Given the description of an element on the screen output the (x, y) to click on. 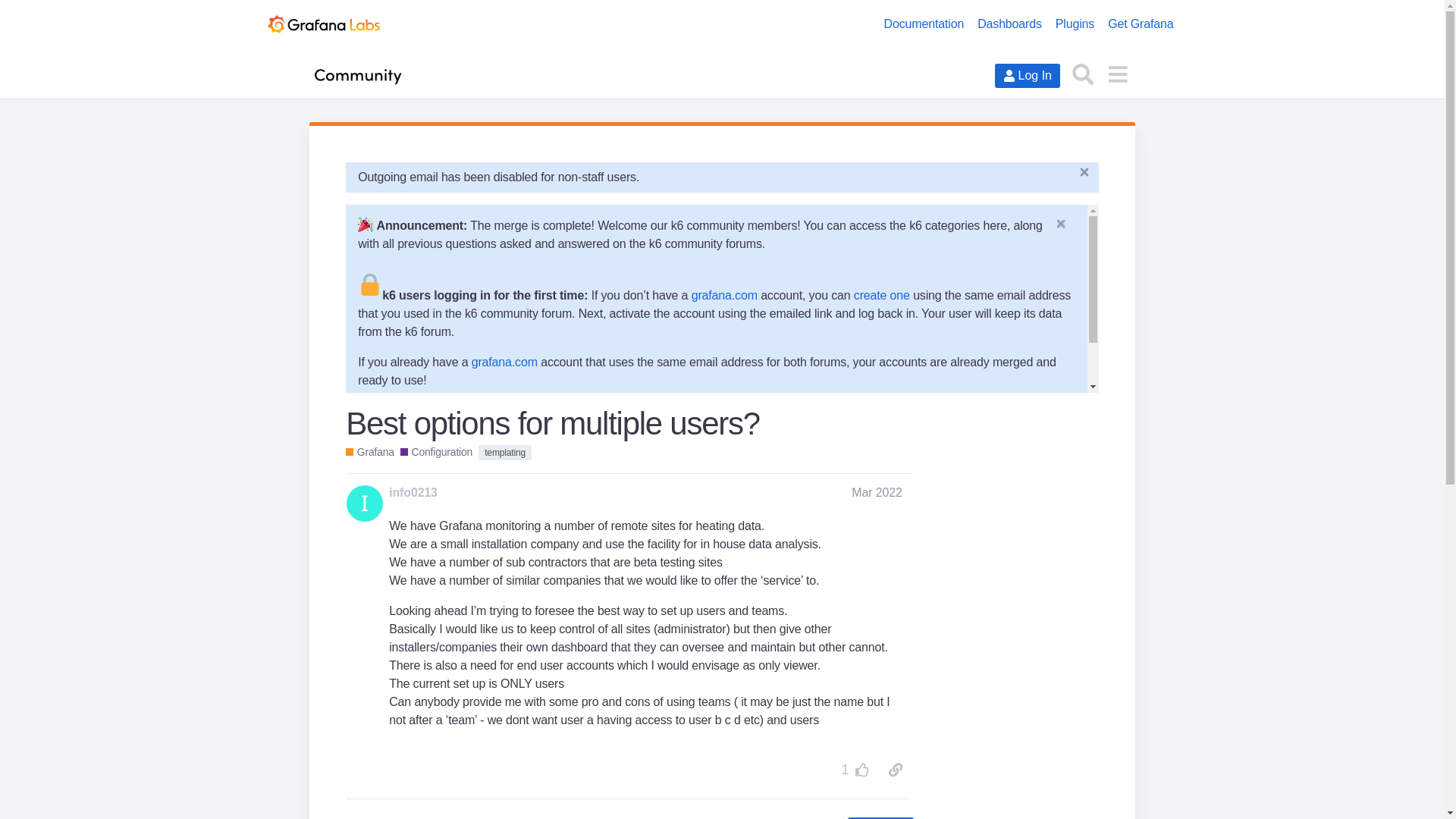
:lock: (369, 283)
Documentation about: (435, 452)
The parent category for Grafana. Browse the subcategories (370, 452)
info0213 (413, 493)
menu (1117, 73)
copy a link to this post to clipboard (895, 769)
Documentation (924, 24)
Post date (876, 492)
Mar 2022 (876, 492)
Grafana (370, 452)
Plugins (1074, 24)
Dashboards (1009, 24)
grafana.com (724, 295)
:tada: (365, 224)
templating (505, 452)
